Given the description of an element on the screen output the (x, y) to click on. 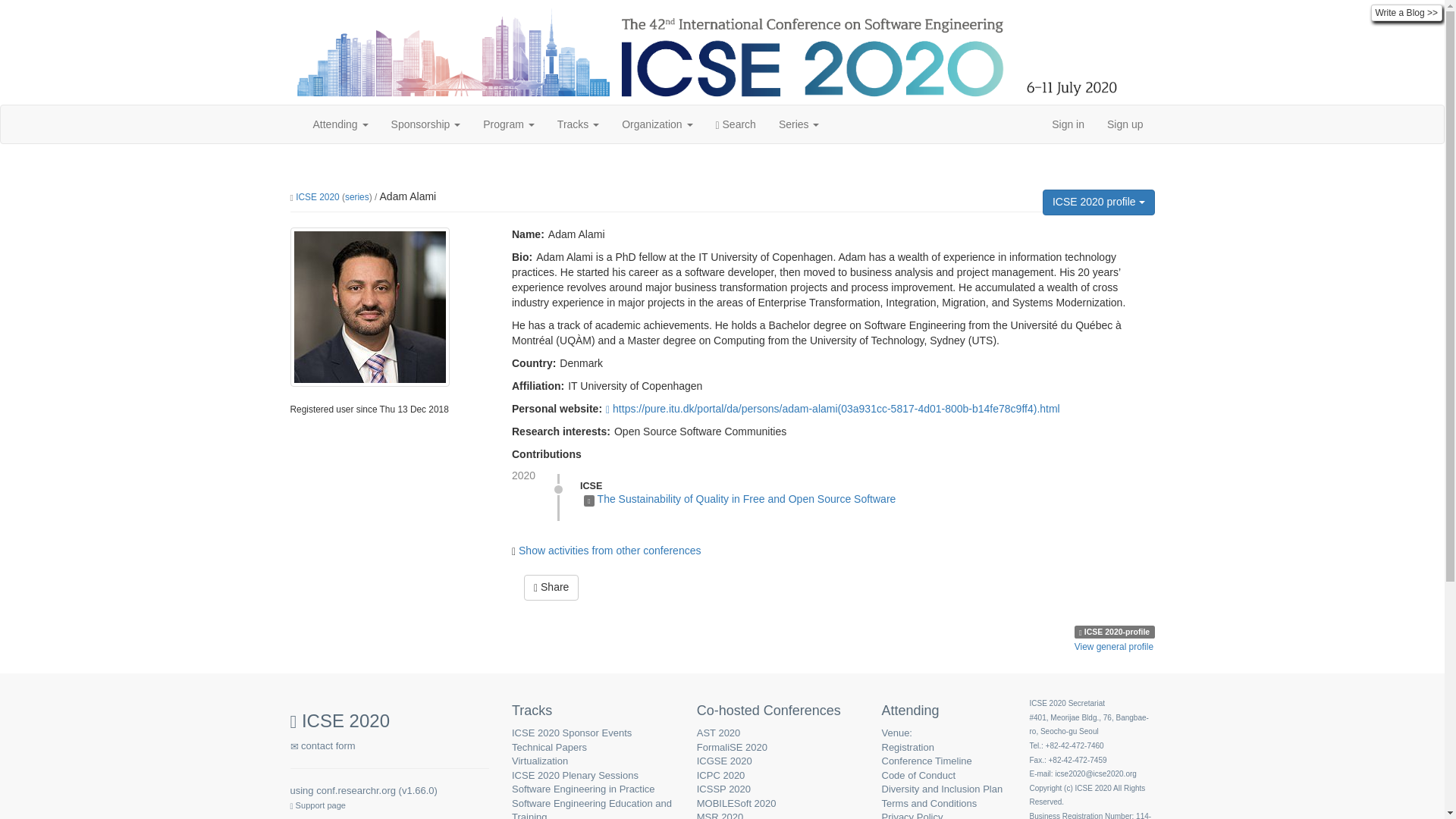
Sponsorship (425, 124)
Program (508, 124)
Attending (340, 124)
